Given the description of an element on the screen output the (x, y) to click on. 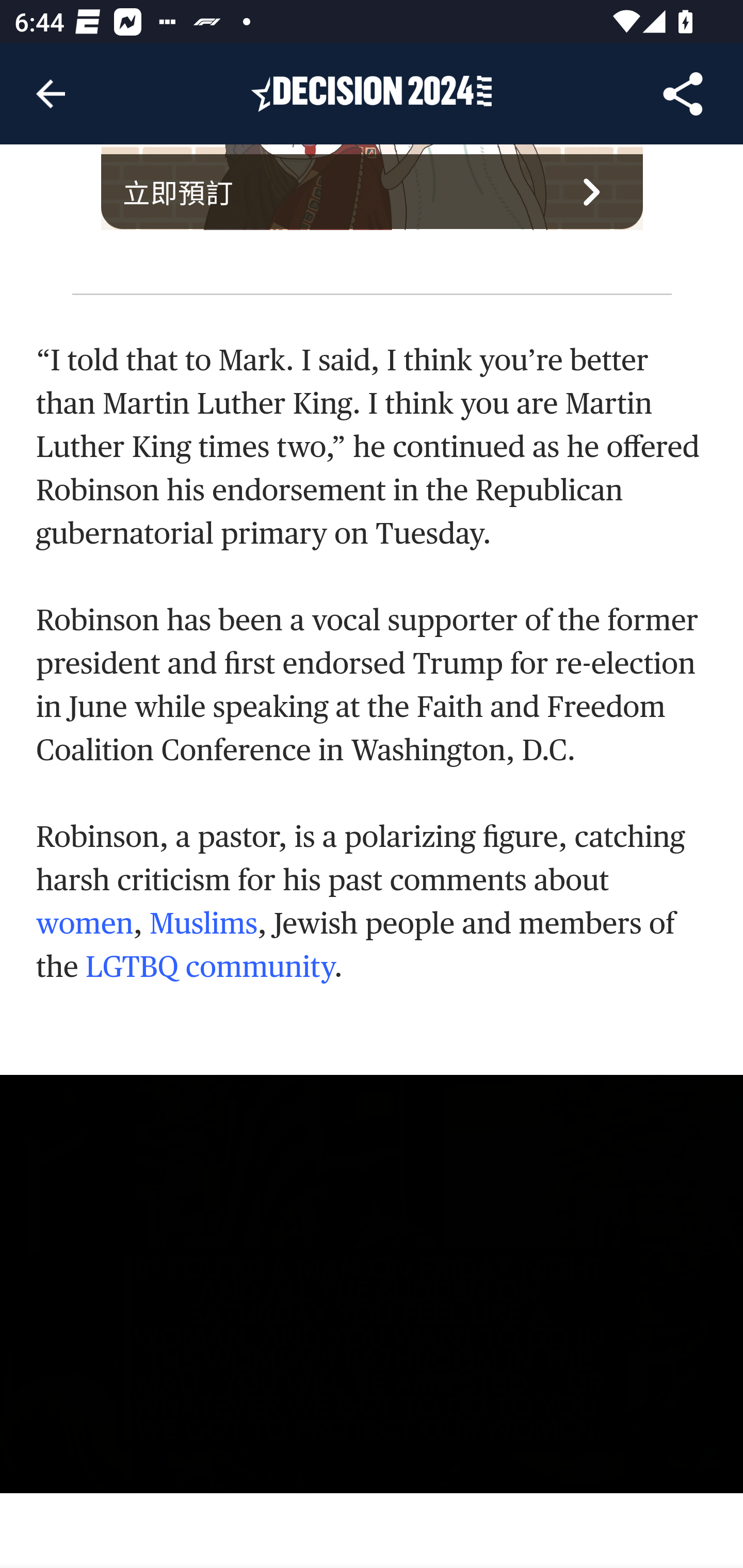
Navigate up (50, 93)
Share Article, button (683, 94)
Header, Decision 2024 (371, 93)
women (84, 924)
Muslims (202, 924)
LGTBQ community (209, 968)
